Given the description of an element on the screen output the (x, y) to click on. 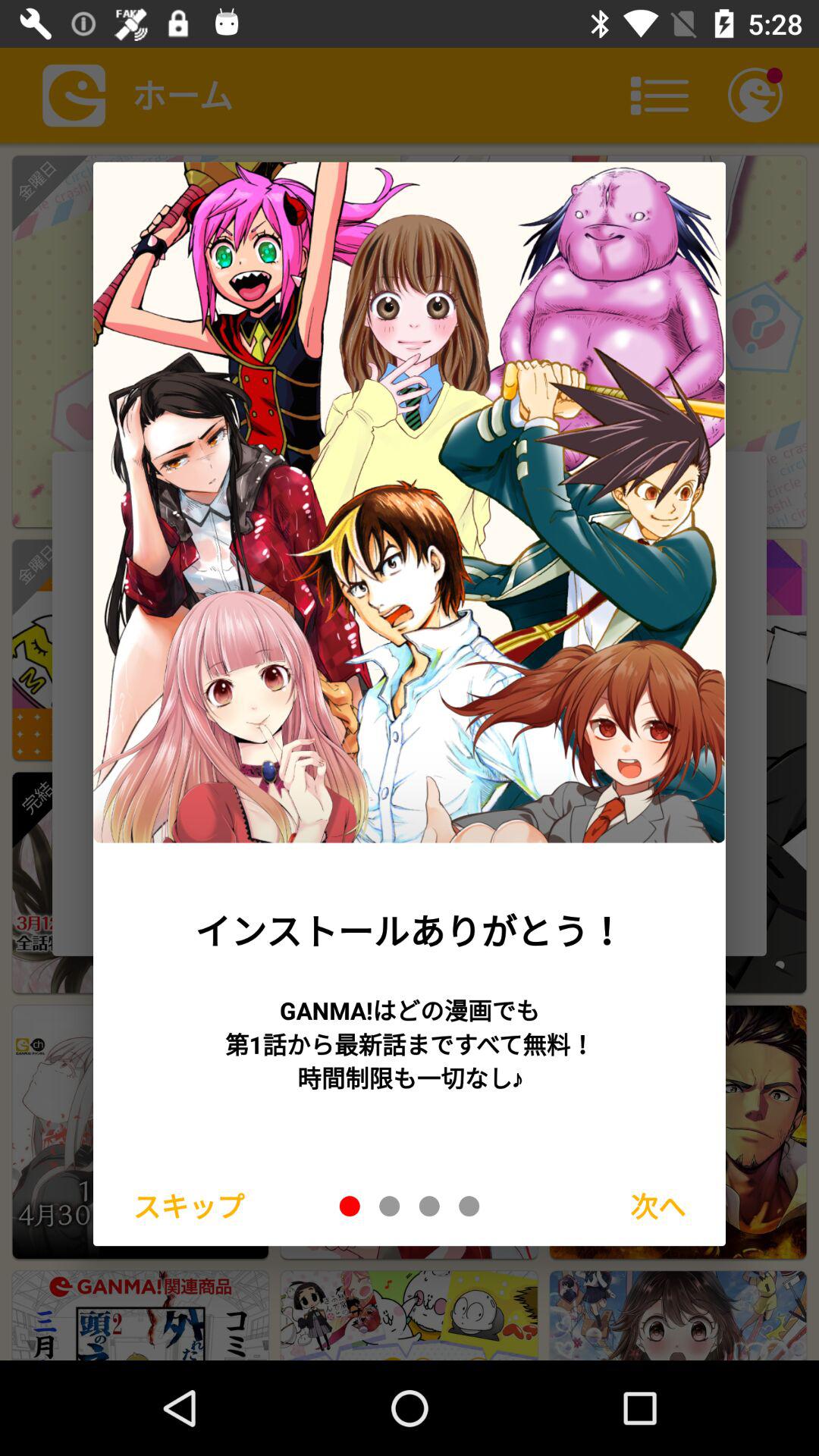
tap icon at the bottom right corner (657, 1206)
